Given the description of an element on the screen output the (x, y) to click on. 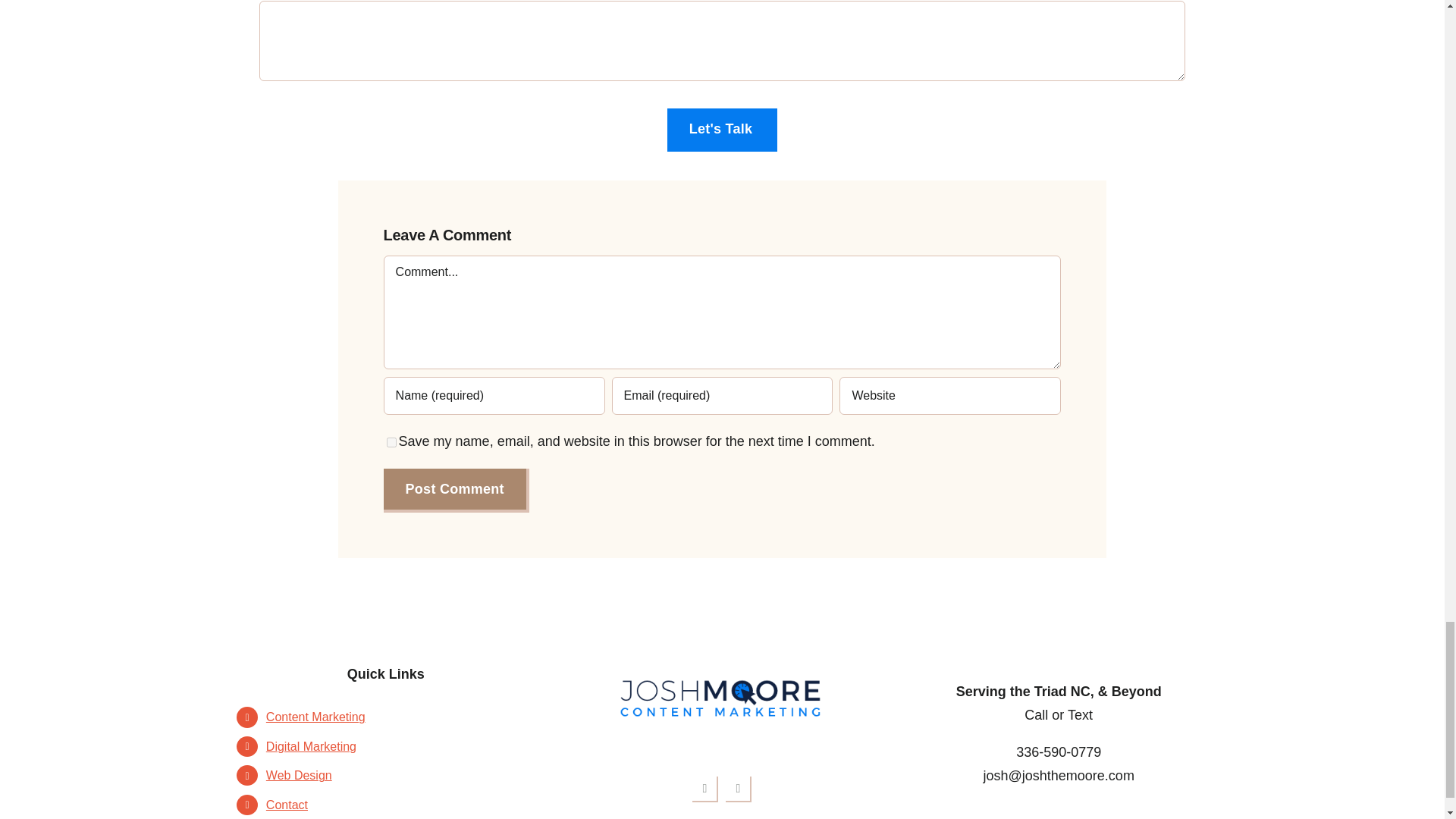
Facebook (705, 789)
yes (391, 442)
Web Design (456, 489)
Digital Marketing (298, 775)
LinkedIn (311, 746)
Content Marketing (738, 789)
Contact (315, 716)
Let'S Talk (286, 804)
